Given the description of an element on the screen output the (x, y) to click on. 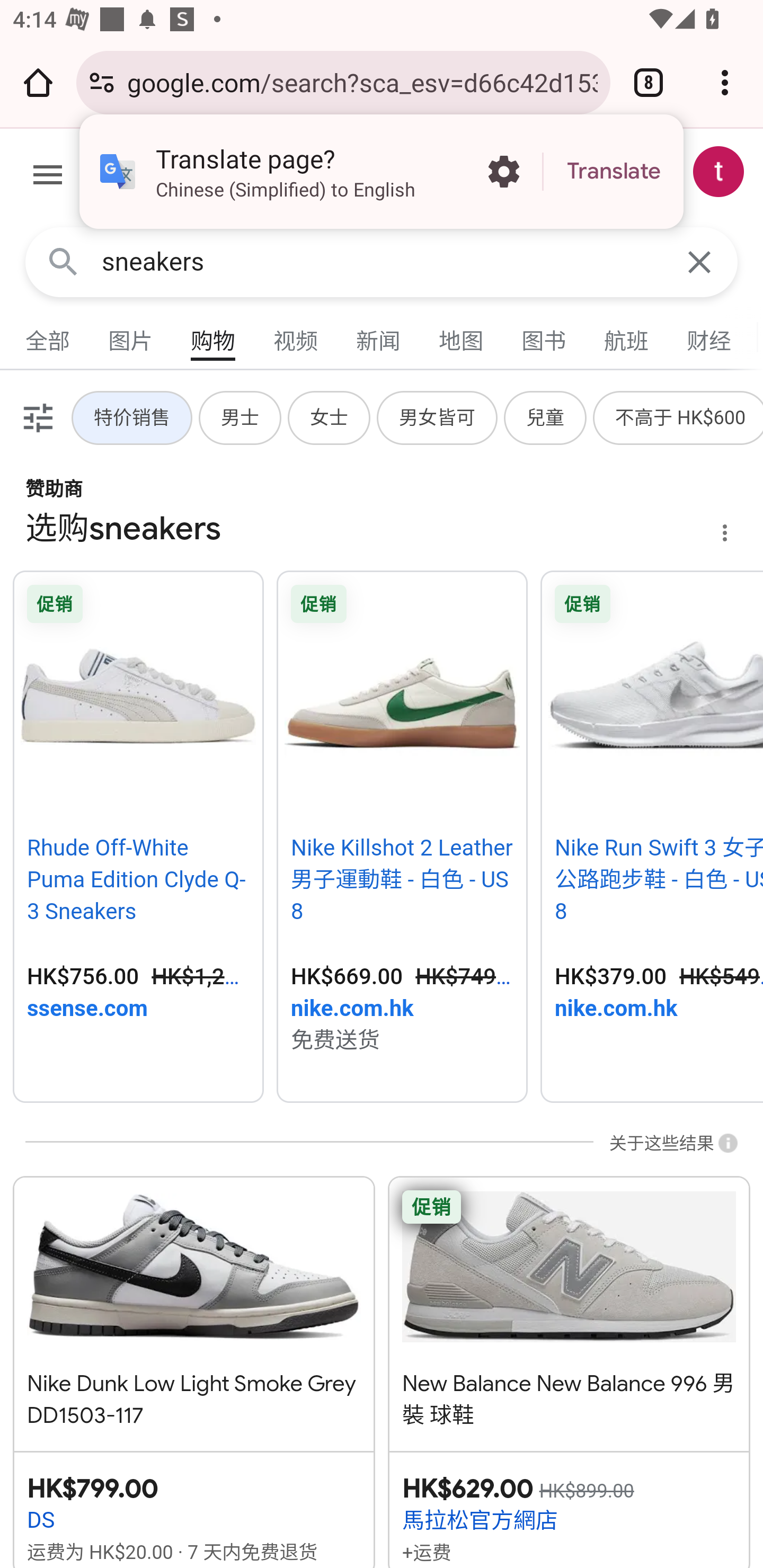
Open the home page (38, 82)
Connection is secure (101, 82)
Switch or close tabs (648, 82)
Customize and control Google Chrome (724, 82)
Translate (613, 171)
主菜单 (47, 177)
More options in the Translate page? (503, 171)
Google 账号： test appium (testappium002@gmail.com) (718, 171)
Google 搜索 (63, 262)
清除搜索 (699, 262)
sneakers (381, 261)
全部 (48, 336)
图片 (131, 336)
视频 (296, 336)
新闻 (379, 336)
地图 (461, 336)
图书 (544, 336)
航班 (627, 336)
财经 (709, 336)
过滤条件.已应用 1 个过滤条件。 (35, 416)
特价销售 (132, 417)
男士 (240, 417)
女士 (329, 417)
男女皆可 (437, 417)
兒童 (546, 417)
不高于 HK$600 (680, 417)
来自ssense.com ssense.com (137, 1009)
来自nike.com.hk nike.com.hk (401, 1009)
来自nike.com.hk nike.com.hk (658, 1009)
关于这些结果 More info 关于这些结果  More info (664, 1144)
Nike Dunk Low Light Smoke Grey DD1503-117 (193, 1304)
